Given the description of an element on the screen output the (x, y) to click on. 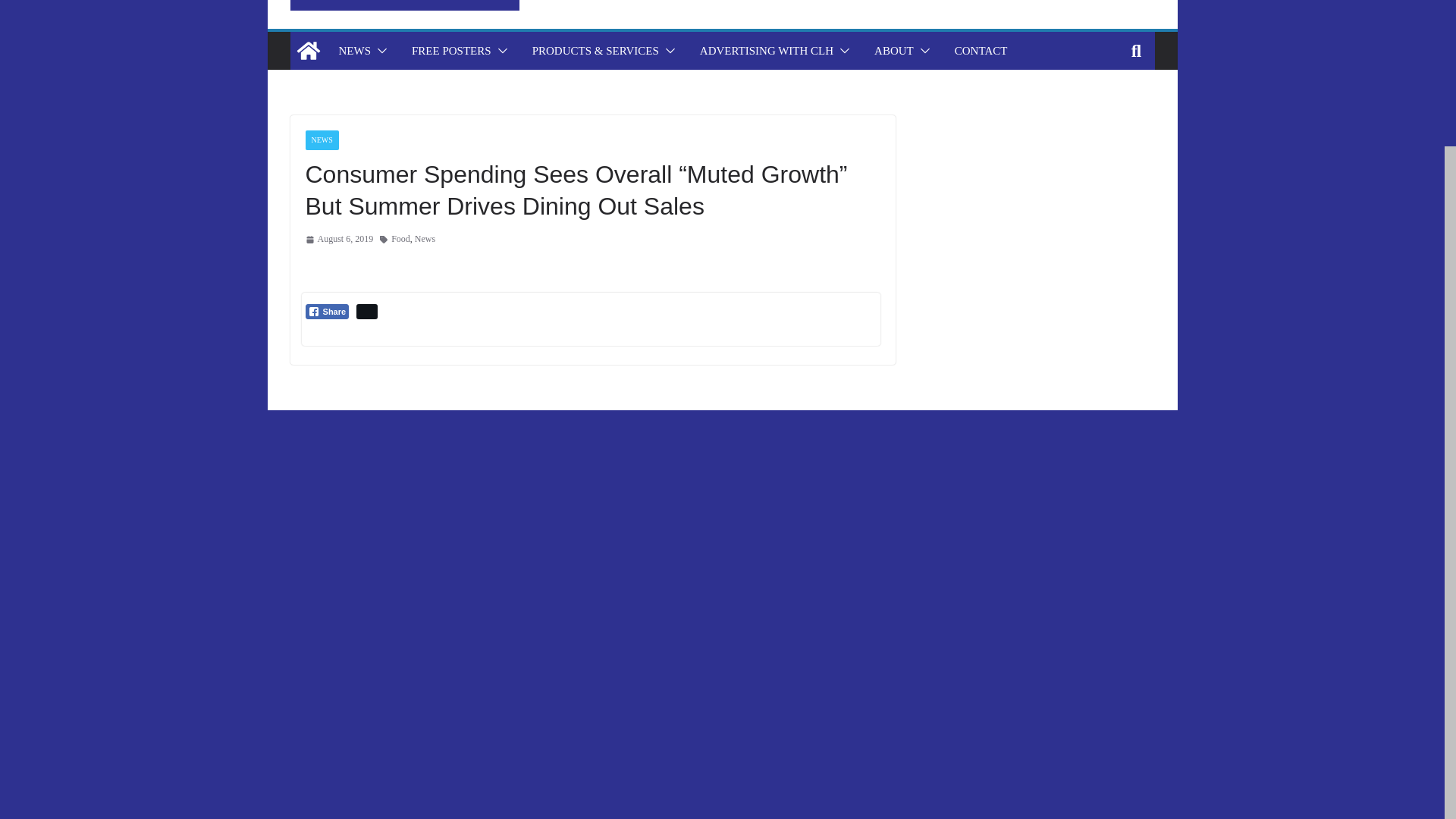
NEWS (354, 50)
FREE POSTERS (452, 50)
12:56 pm (338, 239)
CLH News: Caterer, Licensee and Hotelier News (307, 50)
